Given the description of an element on the screen output the (x, y) to click on. 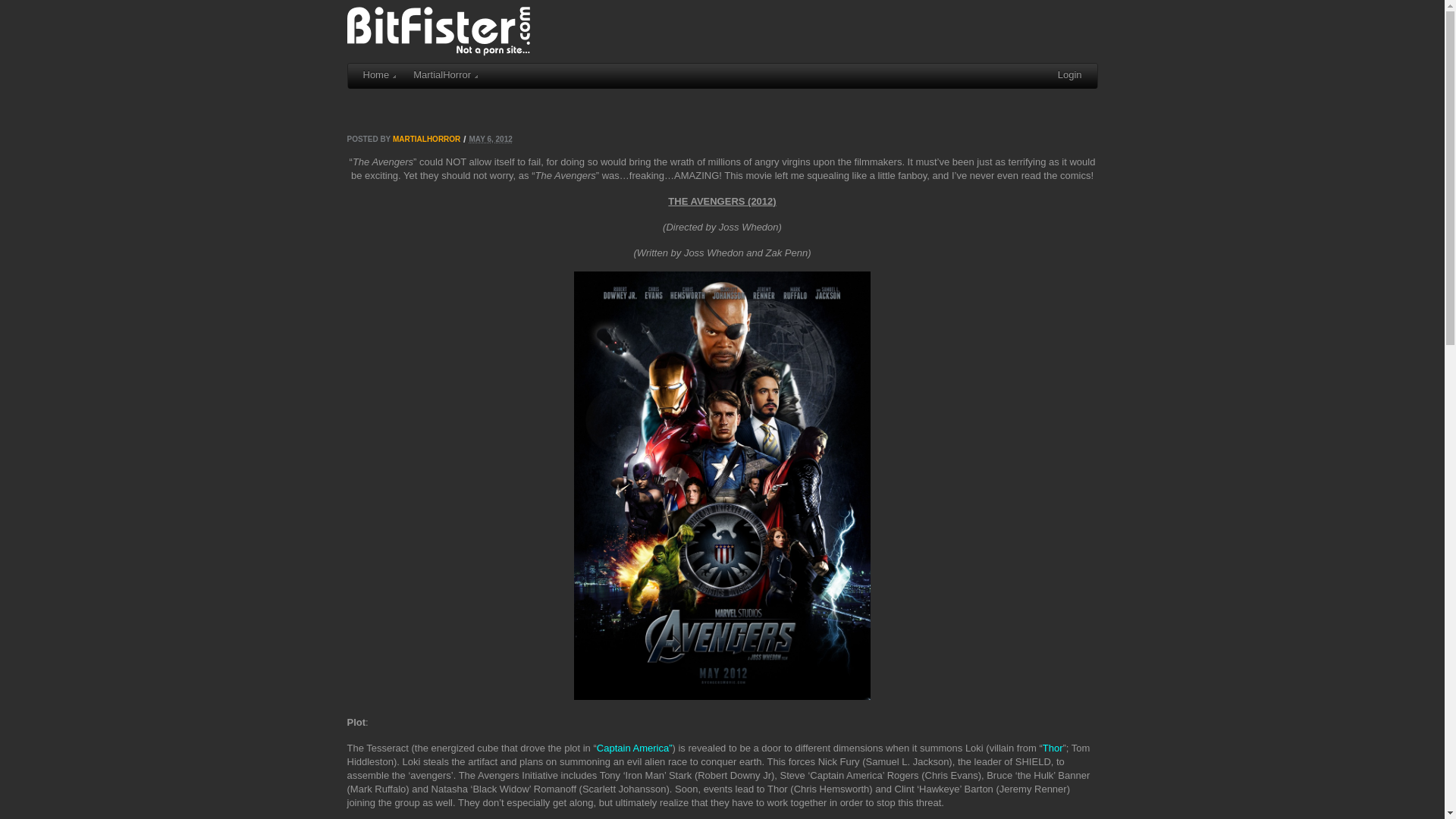
Login (1070, 75)
MartialHorror (443, 75)
MARTIALHORROR (426, 139)
Thor (1052, 747)
Home (378, 75)
Posts by MartialHorror (426, 139)
Captain America (632, 747)
